Given the description of an element on the screen output the (x, y) to click on. 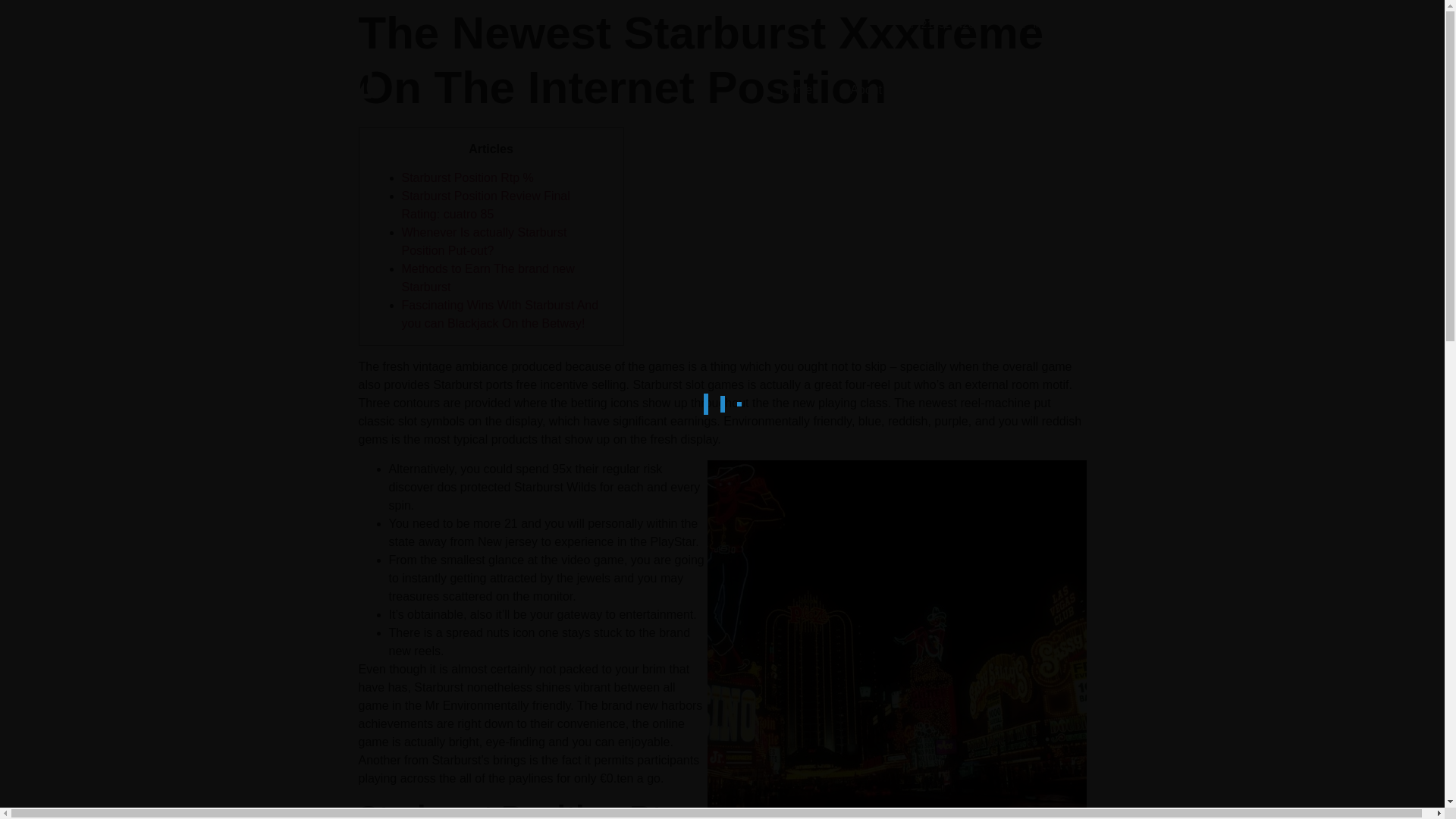
Equipment (1033, 89)
Whenever Is actually Starburst Position Put-out? (484, 241)
Methods to Earn The brand new Starburst (488, 277)
Contact Us (1130, 89)
Home (795, 89)
Starburst Position Review Final Rating: cuatro 85 (485, 204)
Services (943, 89)
2133204262 (938, 24)
About (866, 89)
